Given the description of an element on the screen output the (x, y) to click on. 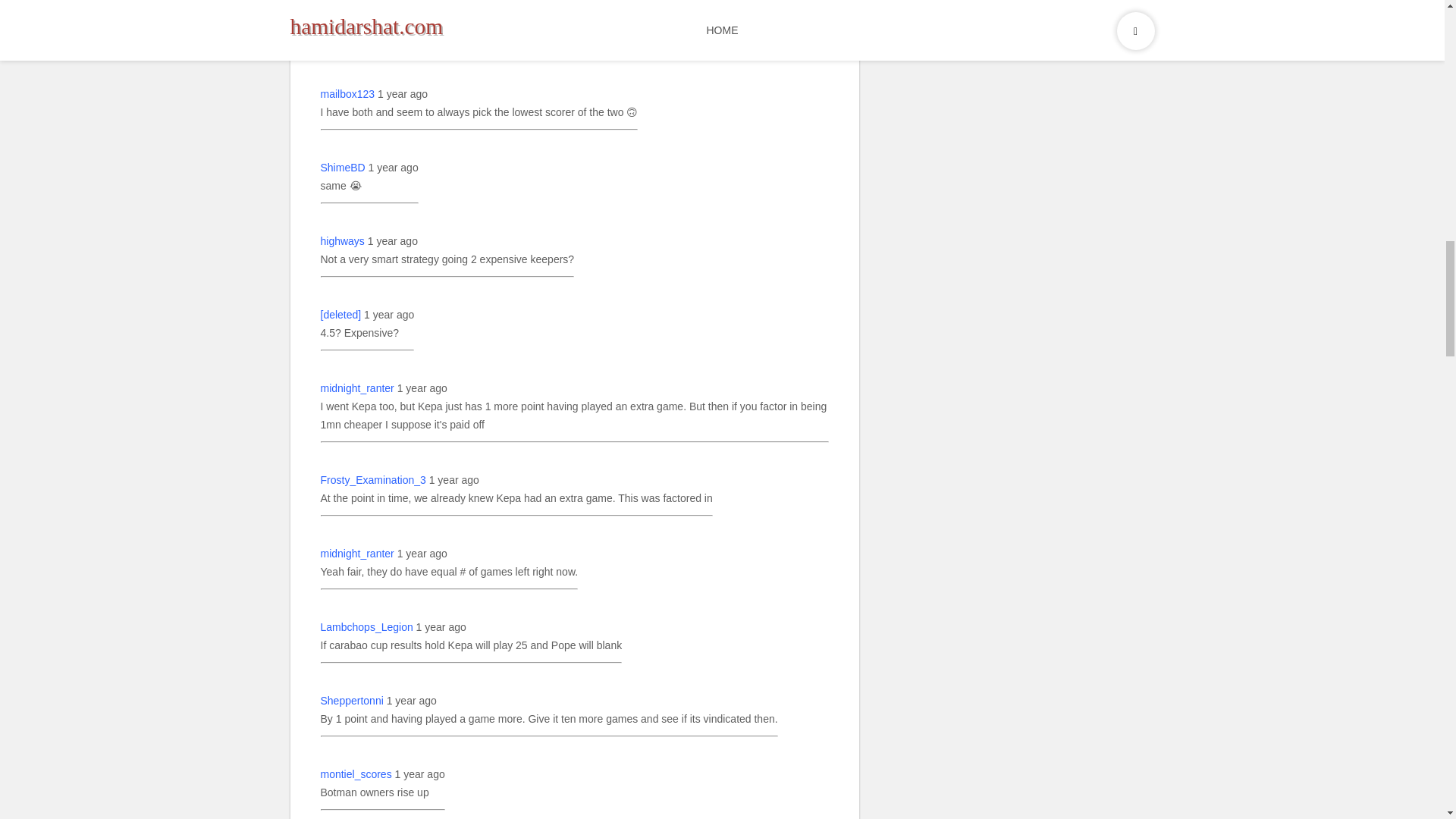
Sheppertonni (351, 700)
highways (342, 240)
ShimeBD (342, 167)
mailbox123 (347, 94)
